Given the description of an element on the screen output the (x, y) to click on. 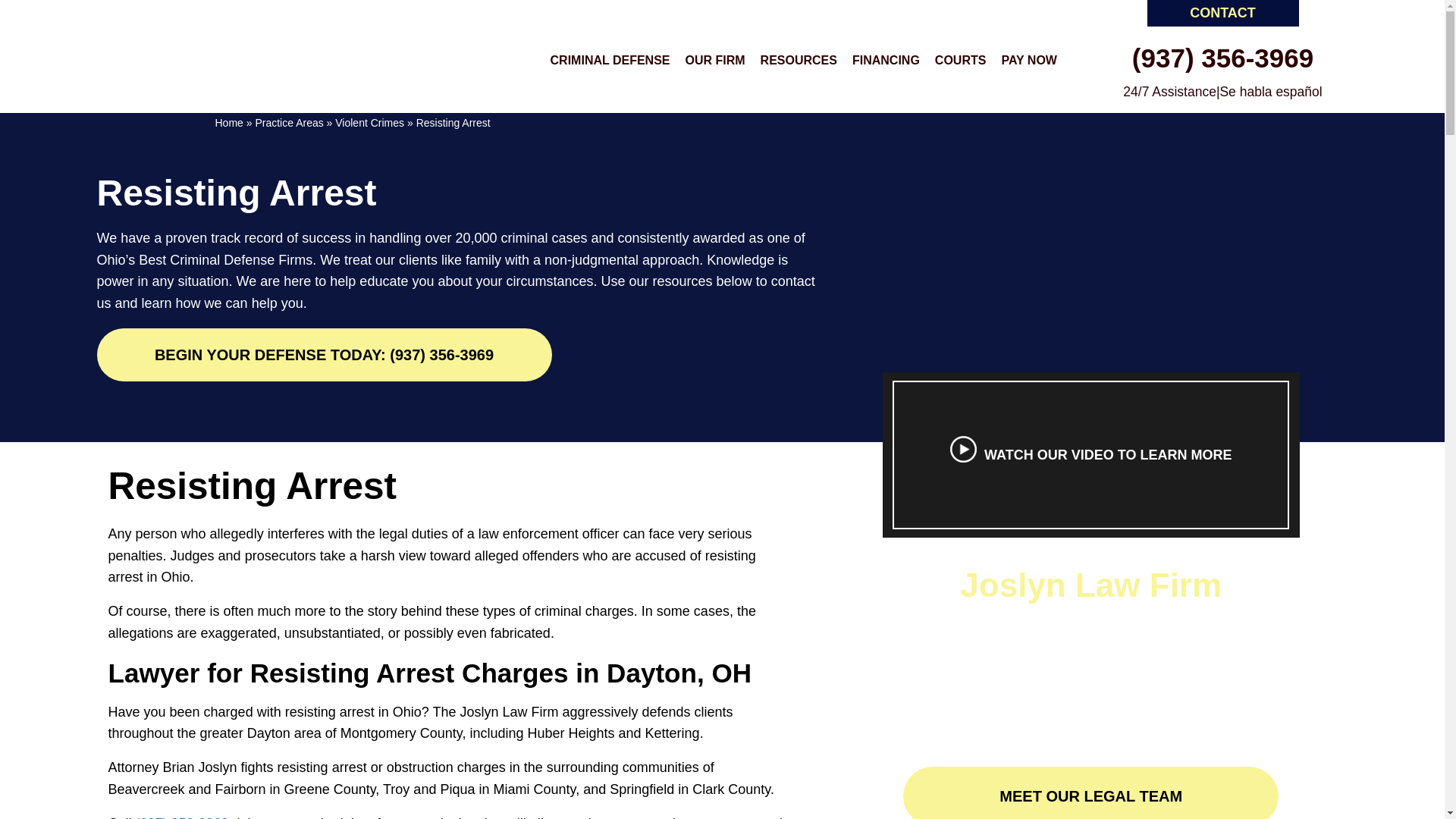
CRIMINAL DEFENSE (610, 60)
